Given the description of an element on the screen output the (x, y) to click on. 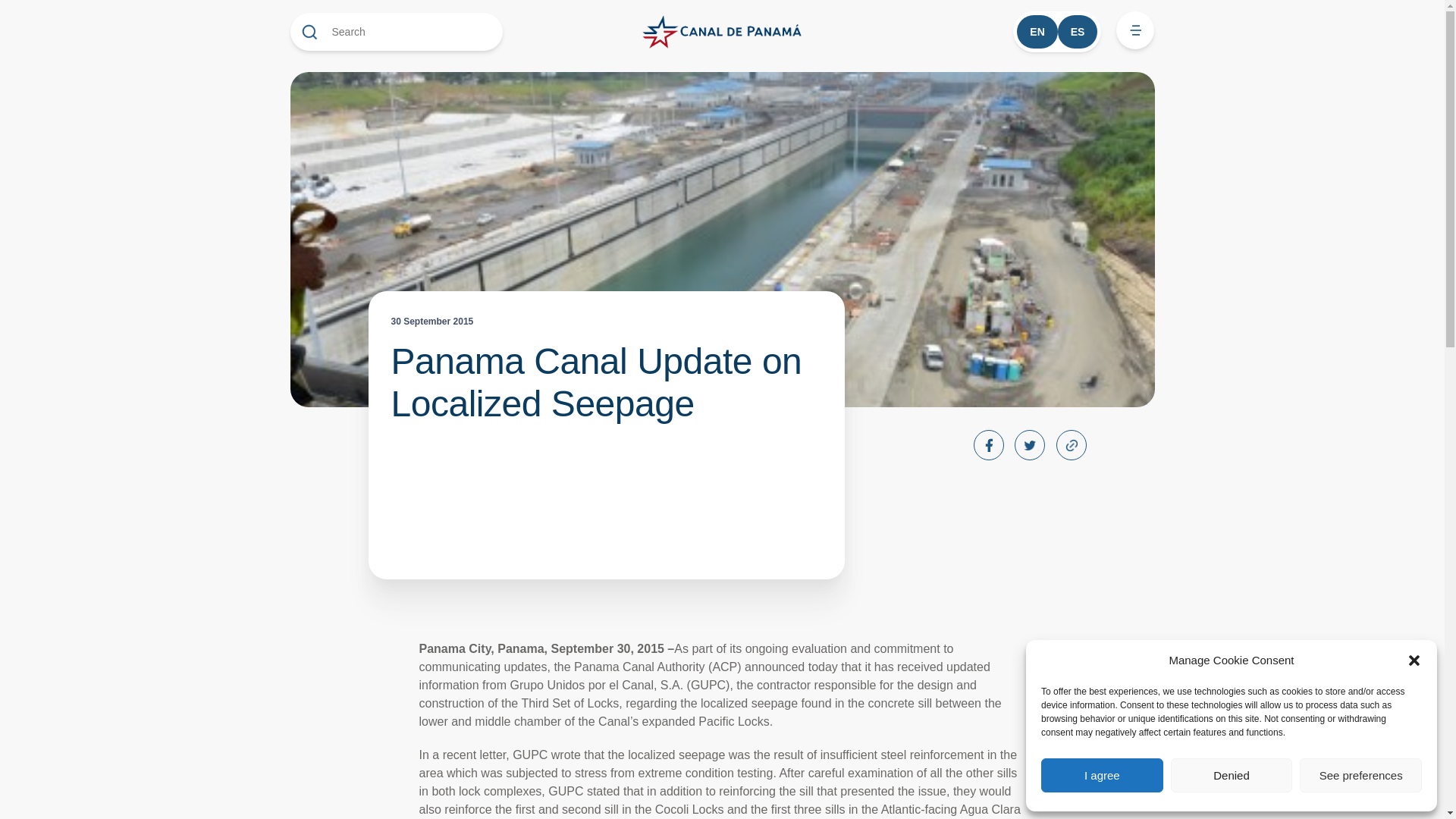
EN (1036, 31)
I agree (1102, 775)
Denied (1231, 775)
See preferences (1361, 775)
ES (1077, 31)
